Given the description of an element on the screen output the (x, y) to click on. 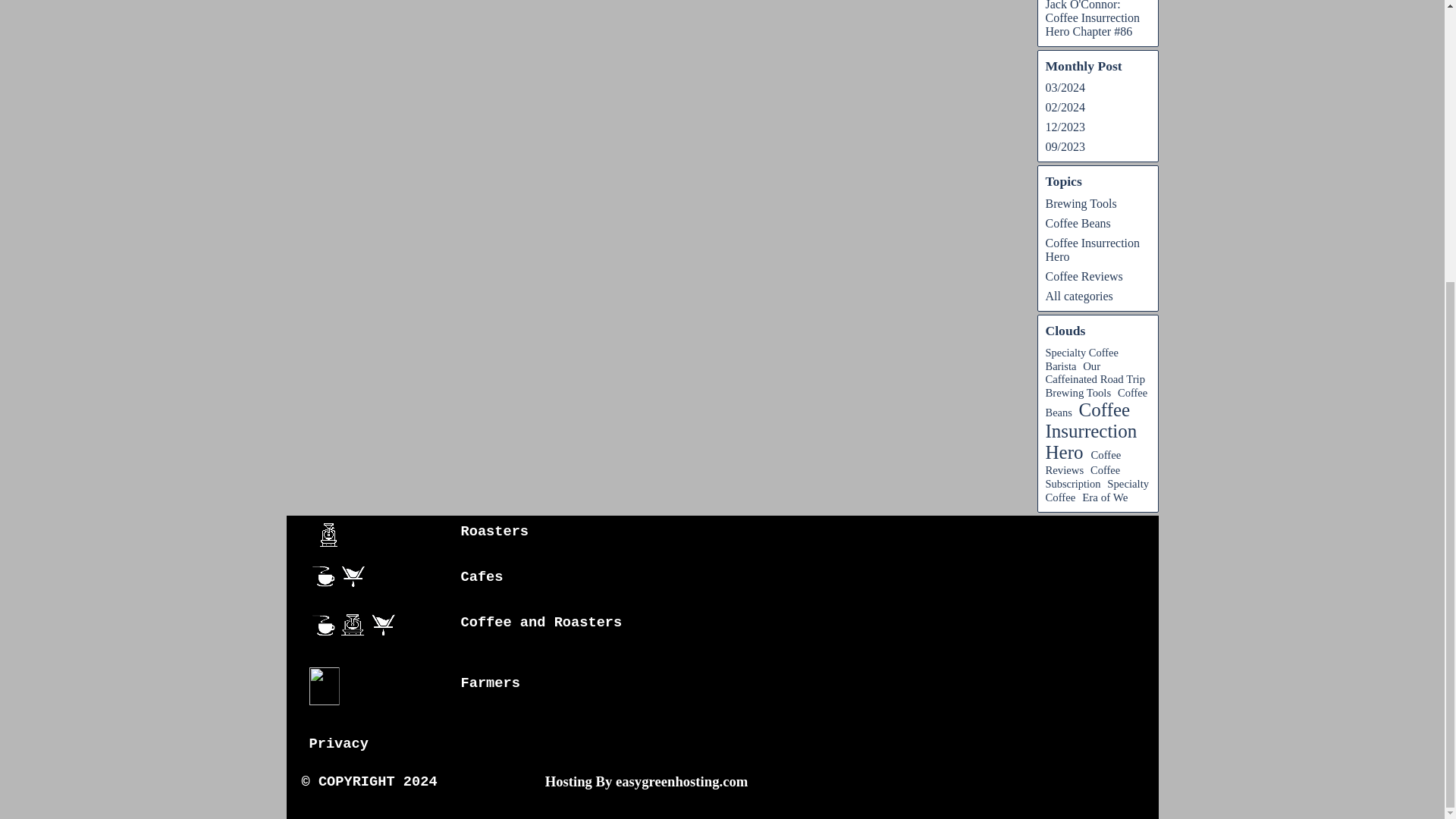
Specialty coffee roasters (327, 534)
Coffee Reviews (1083, 276)
Our Caffeinated Road Trip (1094, 372)
Specialty Coffee (342, 579)
Coffee Beans (1096, 402)
Specialty Coffee Roasters (357, 626)
All categories (1078, 295)
Specialty Coffee Barista (1081, 359)
Brewing Tools (1077, 392)
Coffee Insurrection Hero (1092, 249)
